Given the description of an element on the screen output the (x, y) to click on. 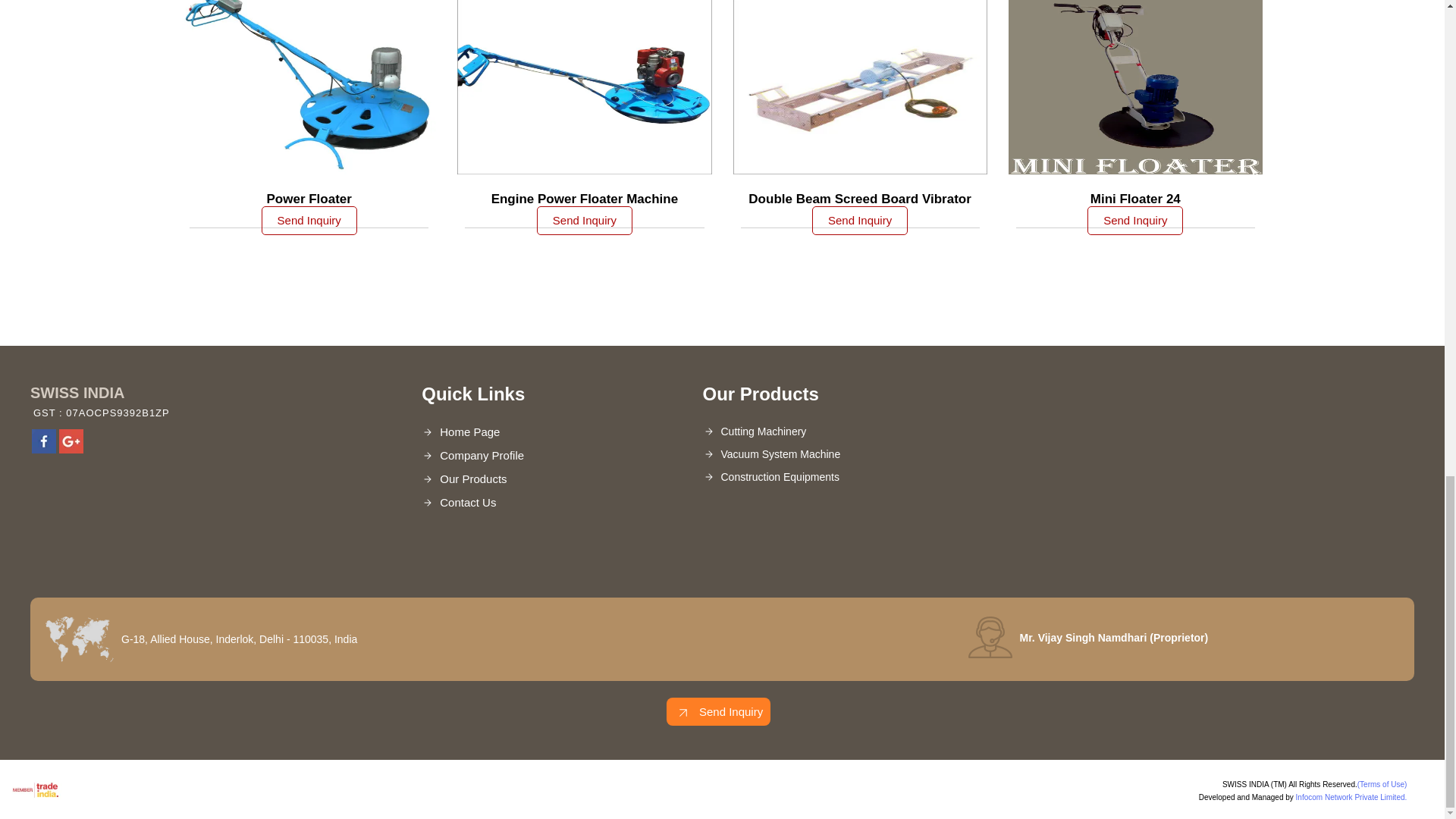
Send Inquiry (683, 712)
Power Floater (309, 199)
Send Inquiry (309, 220)
Double Beam Screed Board Vibrator (859, 199)
Google Plus (70, 449)
Send Inquiry (584, 220)
Facebook (44, 449)
Engine Power Floater Machine (585, 199)
